Given the description of an element on the screen output the (x, y) to click on. 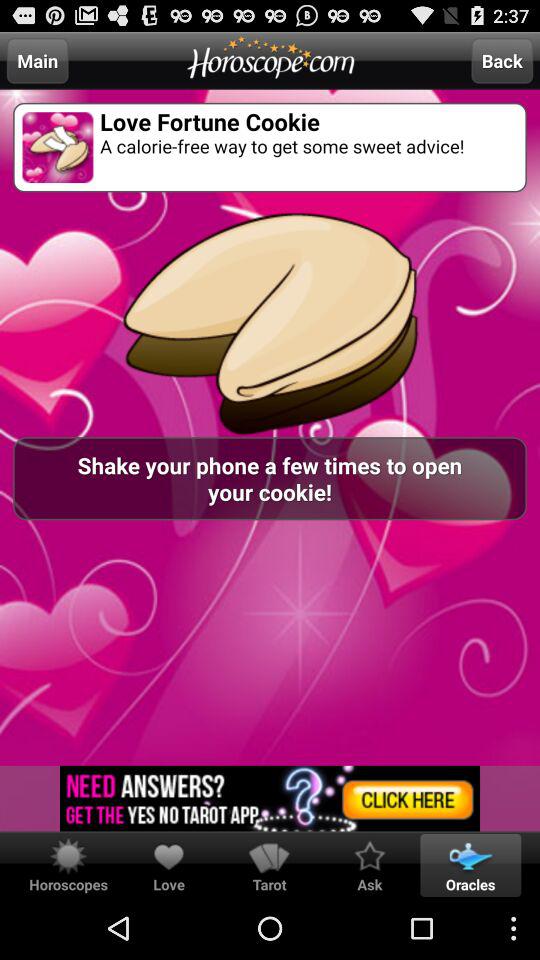
advertisement (270, 798)
